Given the description of an element on the screen output the (x, y) to click on. 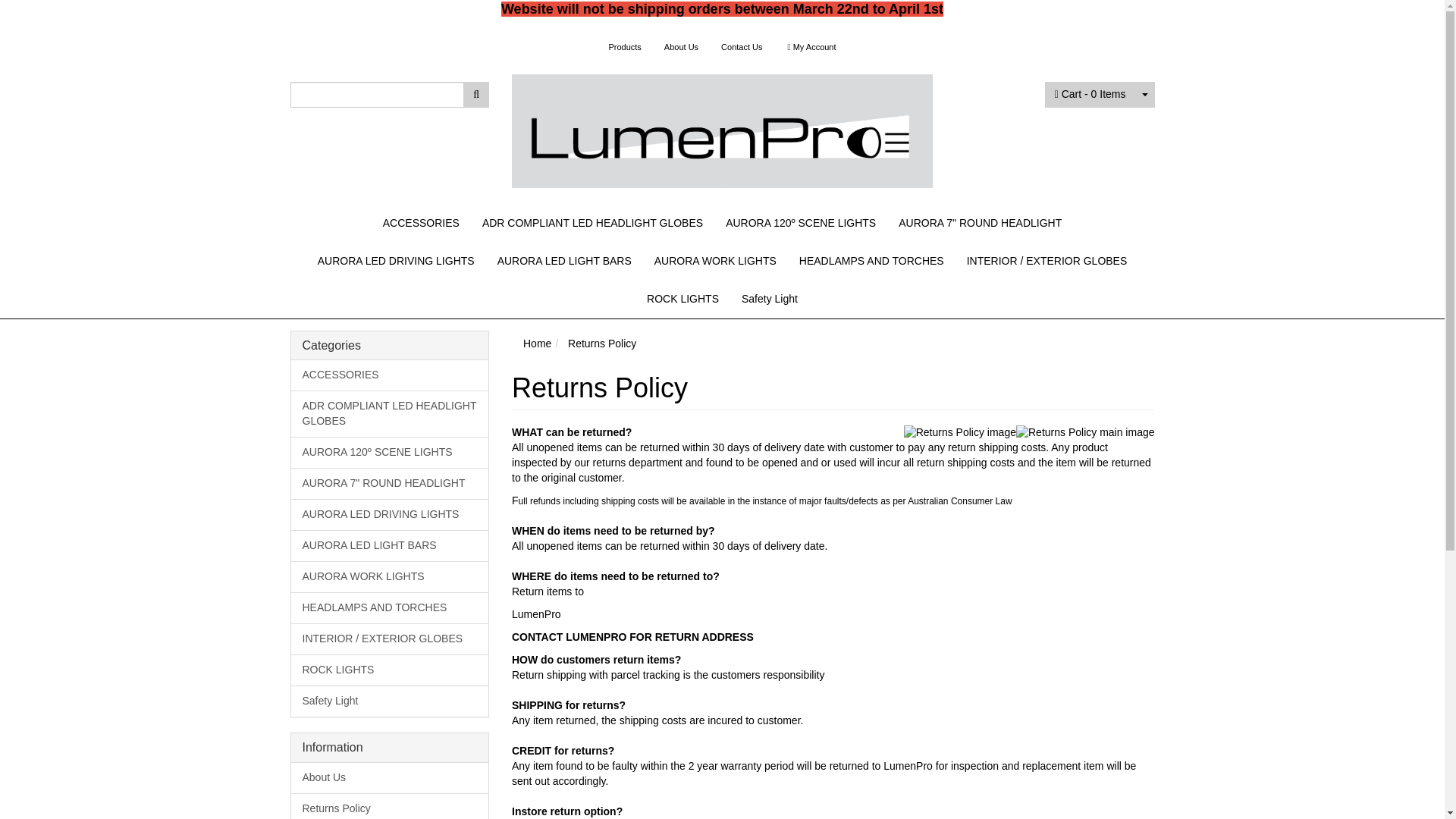
AURORA WORK LIGHTS (390, 576)
Contact Us (741, 46)
HEADLAMPS AND TORCHES (390, 607)
ROCK LIGHTS (390, 669)
ACCESSORIES (420, 222)
AURORA LED DRIVING LIGHTS (390, 513)
ROCK LIGHTS (682, 298)
HEADLAMPS AND TORCHES (871, 260)
ADR COMPLIANT LED HEADLIGHT GLOBES (592, 222)
Products (624, 46)
